Given the description of an element on the screen output the (x, y) to click on. 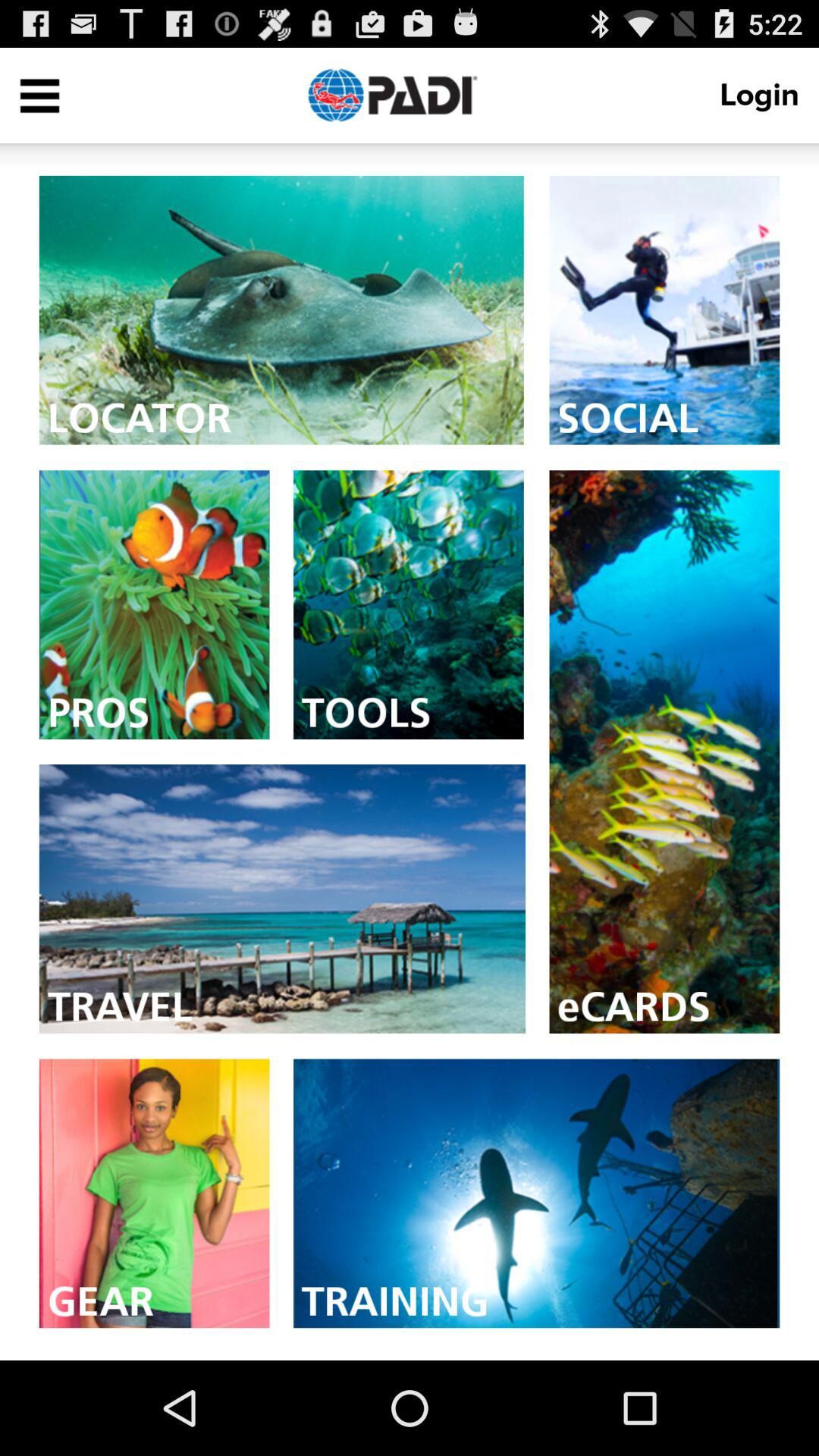
select social (664, 309)
